Given the description of an element on the screen output the (x, y) to click on. 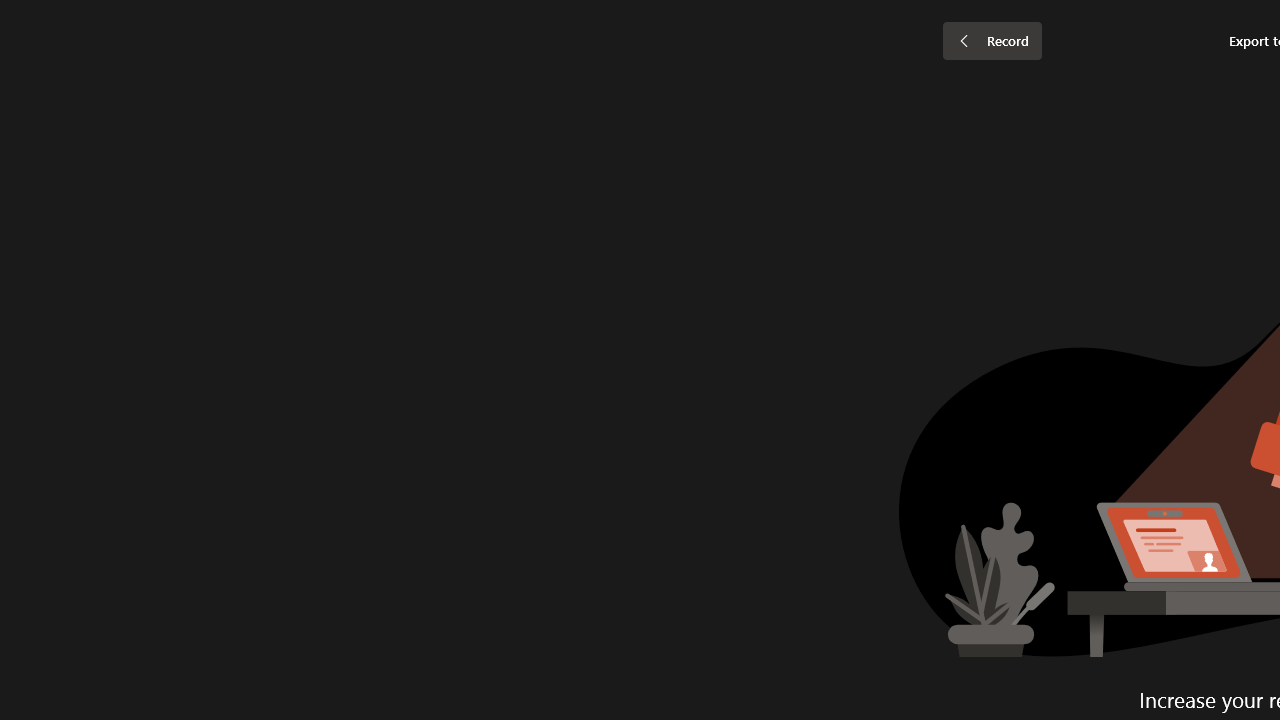
Reset to Cameo (474, 102)
